Given the description of an element on the screen output the (x, y) to click on. 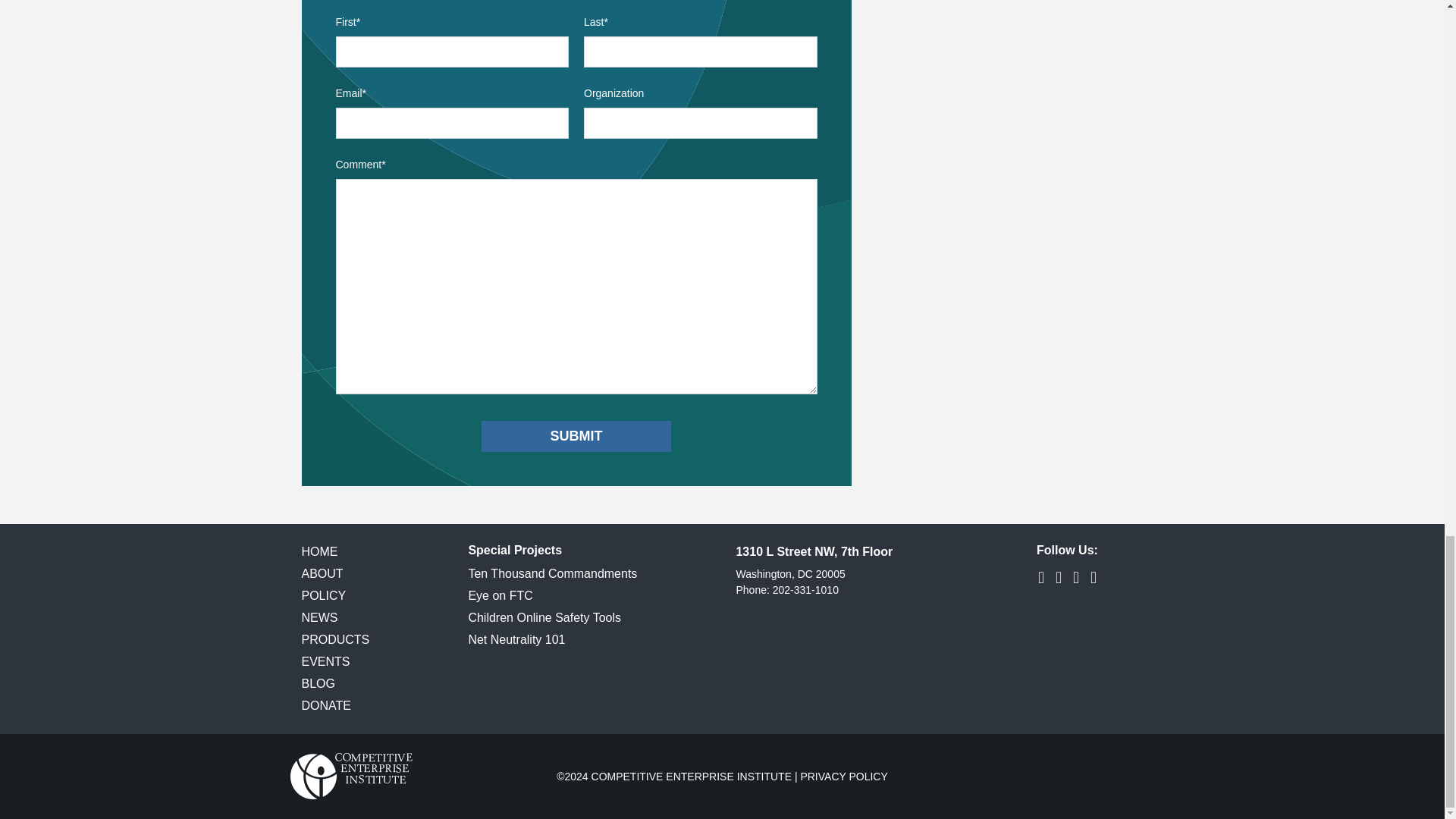
Submit (576, 436)
